Given the description of an element on the screen output the (x, y) to click on. 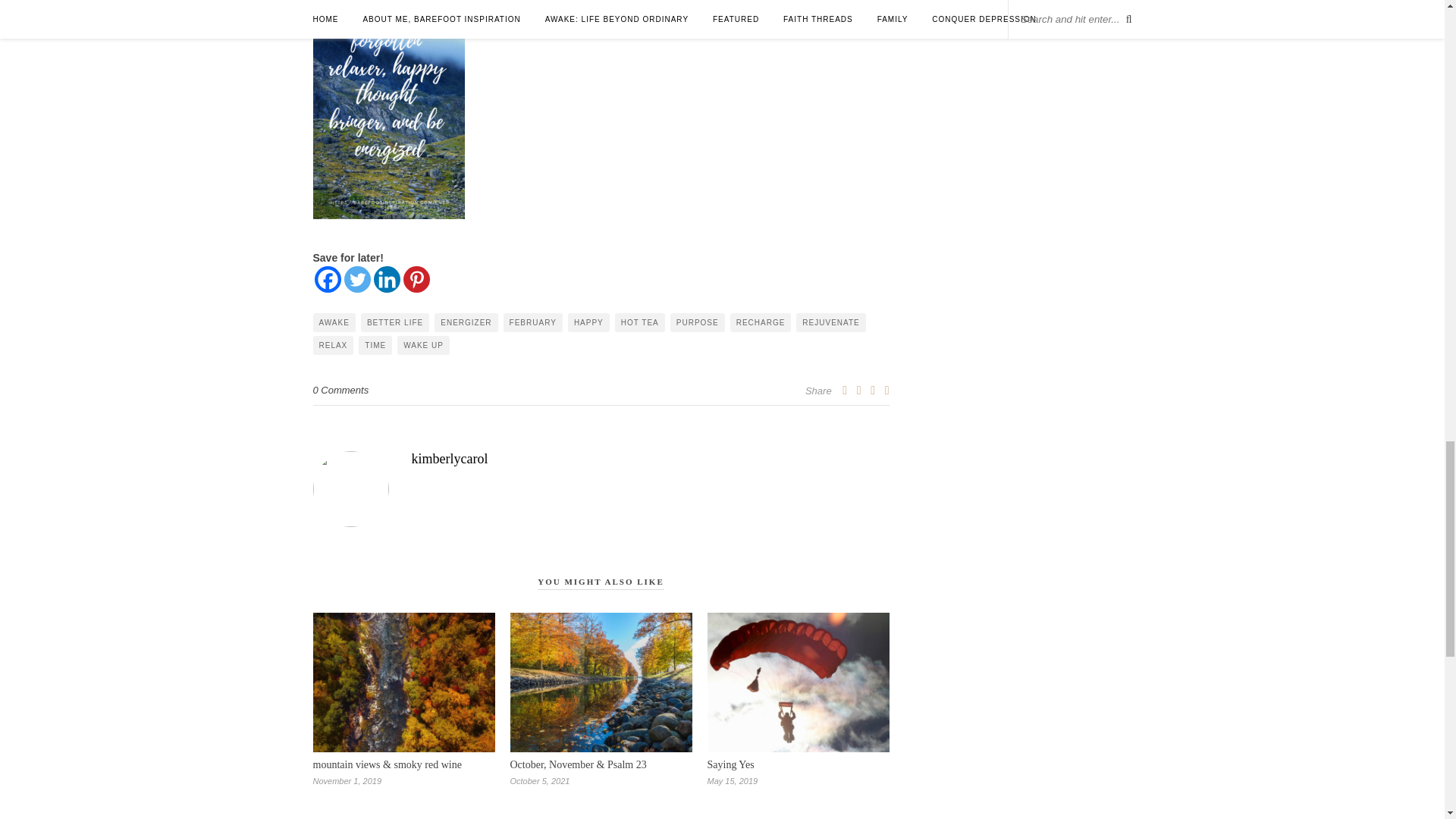
HOT TEA (639, 322)
TIME (374, 344)
HAPPY (588, 322)
WAKE UP (423, 344)
Pinterest (416, 279)
Twitter (357, 279)
FEBRUARY (532, 322)
PURPOSE (697, 322)
AWAKE (334, 322)
BETTER LIFE (395, 322)
REJUVENATE (830, 322)
RELAX (333, 344)
RECHARGE (761, 322)
ENERGIZER (465, 322)
Facebook (327, 279)
